Given the description of an element on the screen output the (x, y) to click on. 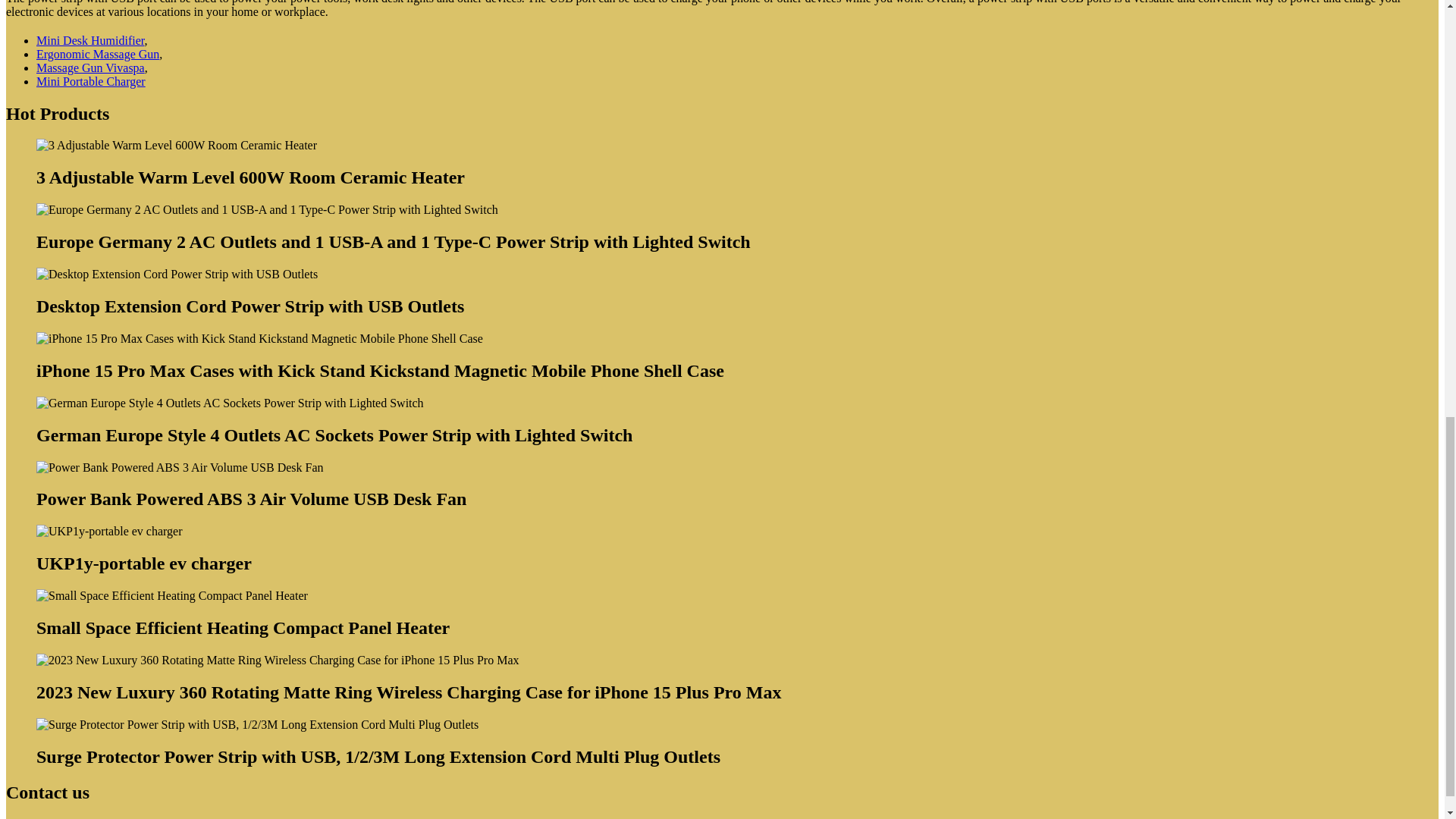
Mini Desk Humidifier (90, 40)
Massage Gun Vivaspa (90, 67)
Mini Portable Charger (90, 81)
Ergonomic Massage Gun (97, 53)
